Given the description of an element on the screen output the (x, y) to click on. 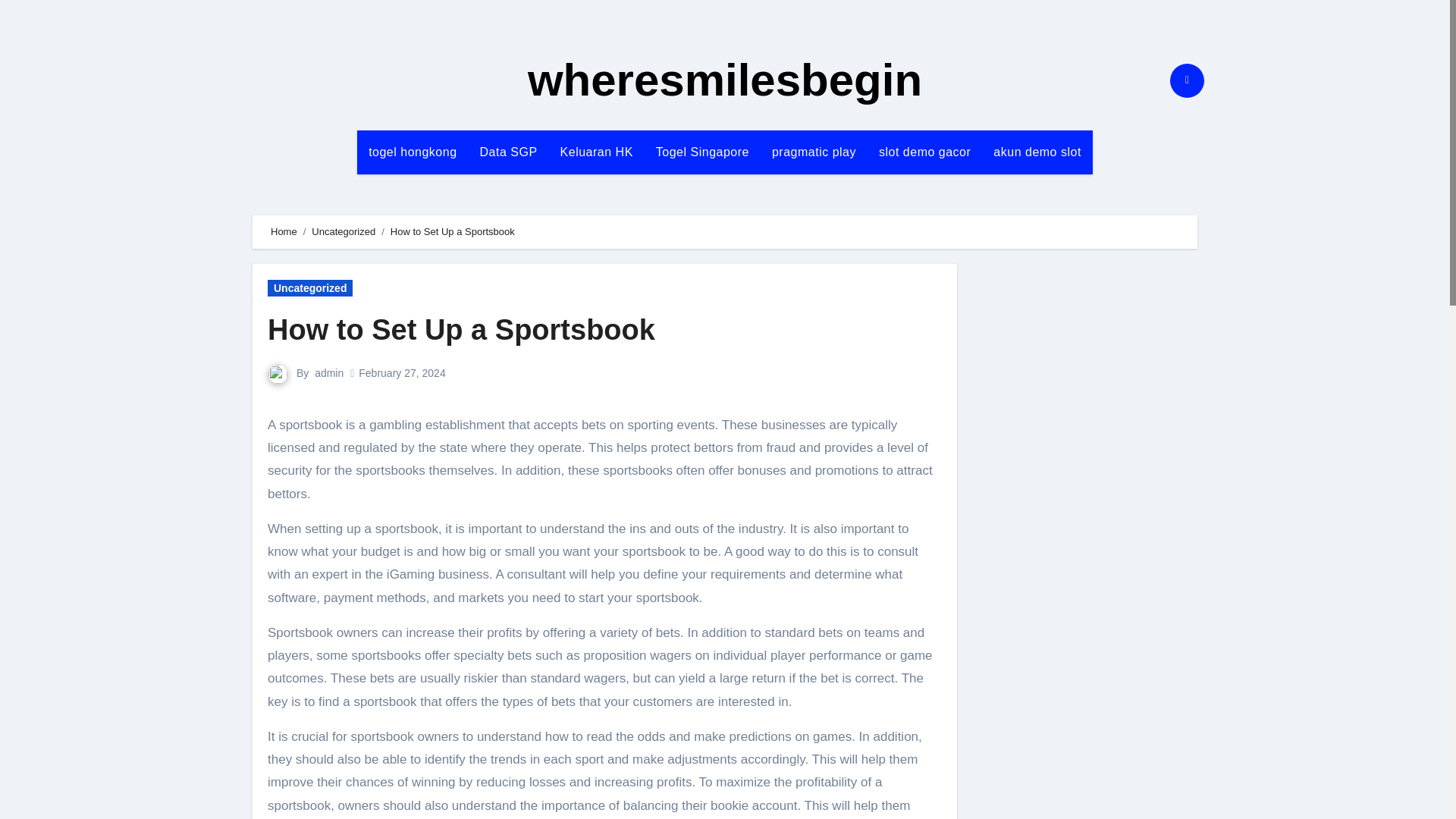
togel hongkong (411, 152)
Data SGP (508, 152)
pragmatic play (813, 152)
Togel Singapore (702, 152)
Keluaran HK (596, 152)
slot demo gacor (924, 152)
Home (283, 231)
Data SGP (508, 152)
February 27, 2024 (401, 372)
slot demo gacor (924, 152)
Togel Singapore (702, 152)
admin (328, 372)
wheresmilesbegin (724, 79)
How to Set Up a Sportsbook (461, 329)
akun demo slot (1037, 152)
